Given the description of an element on the screen output the (x, y) to click on. 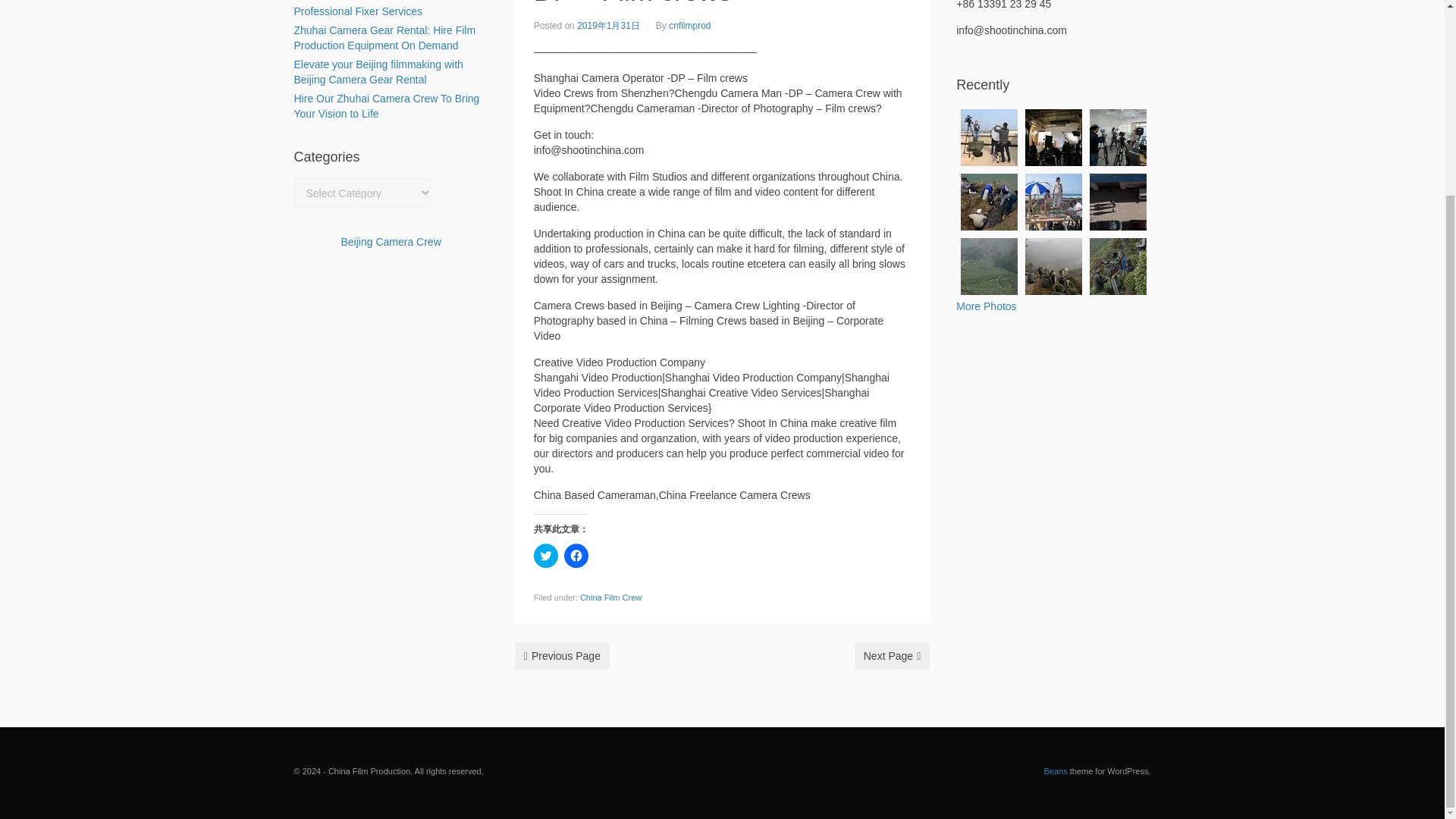
Hire Our Zhuhai Camera Crew To Bring Your Vision to Life (387, 105)
Beijing Camera Crew (390, 241)
More Photos (986, 306)
Kids Walking Alley (1118, 201)
Click to share on Facebook (576, 555)
China Film Crew (610, 596)
Previous Page (562, 655)
Qingdao Filming Interviews in Jutao (988, 137)
Beans (1055, 770)
YSL Studio Shoot Shanghai (1053, 137)
Click to share on Twitter (545, 555)
Next Page (892, 655)
